Given the description of an element on the screen output the (x, y) to click on. 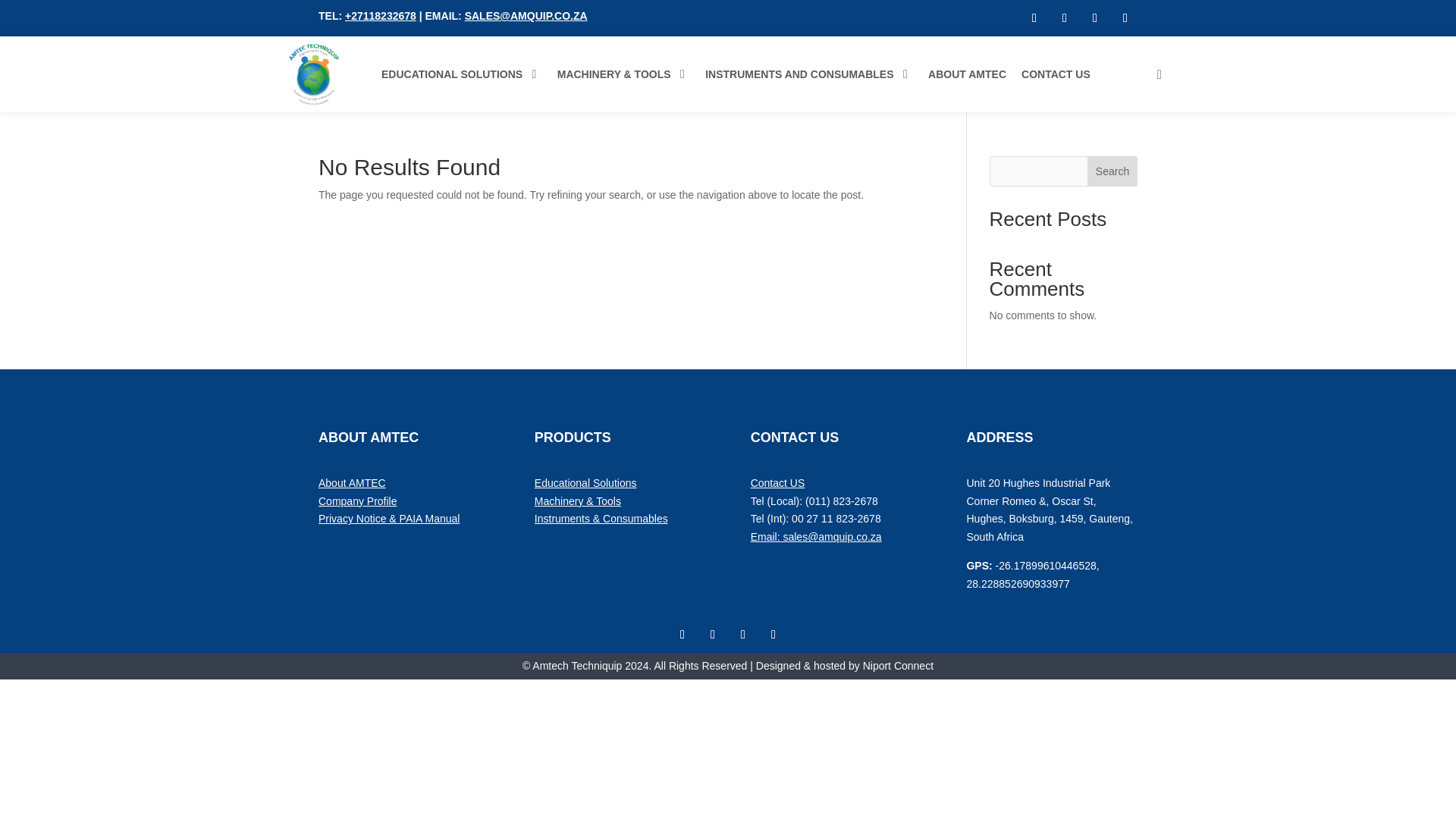
Follow on LinkedIn (1094, 17)
Follow on Youtube (1125, 17)
Follow on LinkedIn (742, 634)
Follow on Instagram (1034, 17)
Follow on Facebook (712, 634)
Follow on Facebook (1064, 17)
Follow on Youtube (773, 634)
EDUCATIONAL SOLUTIONS (461, 74)
Follow on Instagram (681, 634)
